Given the description of an element on the screen output the (x, y) to click on. 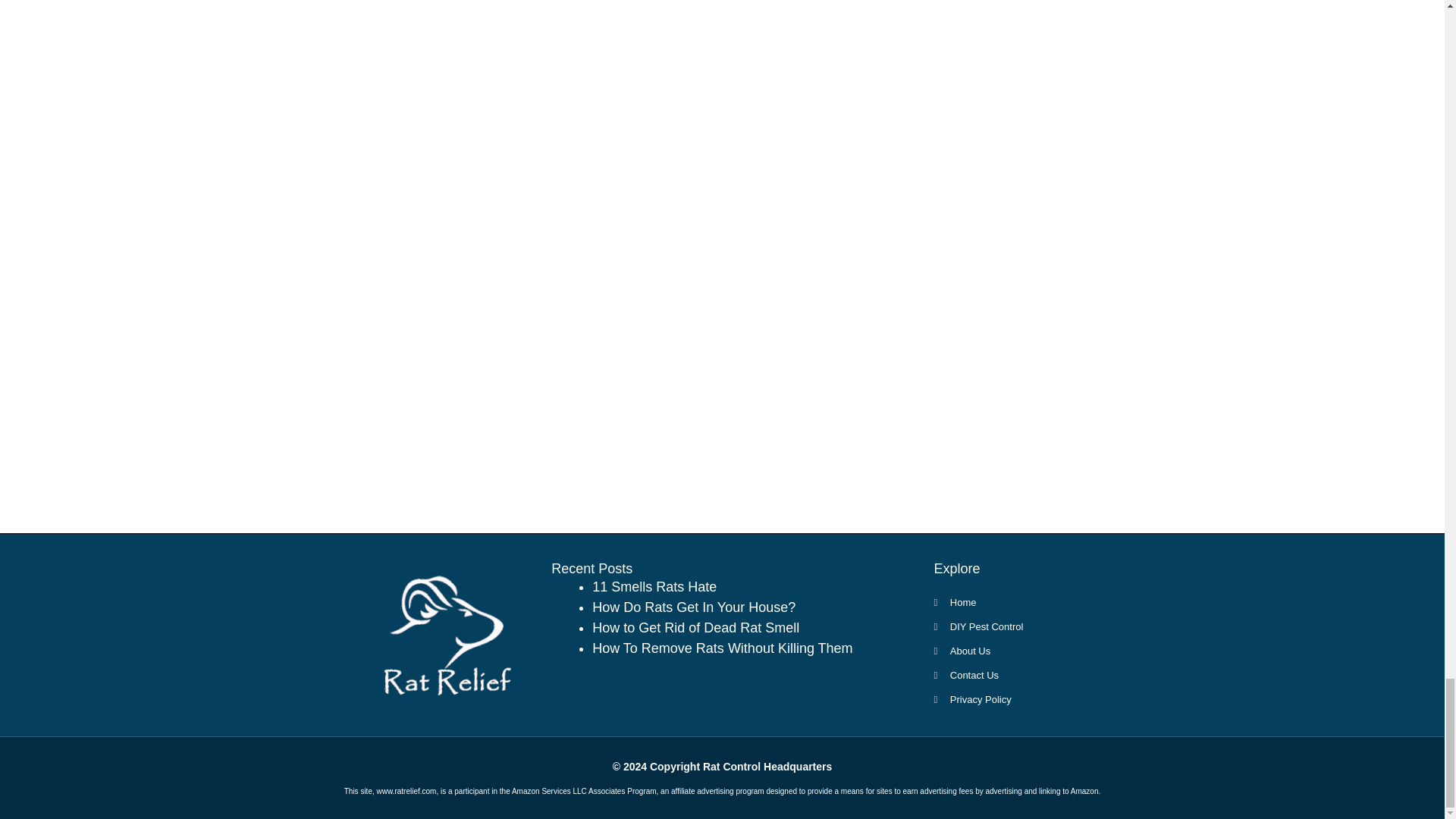
Privacy Policy (1009, 699)
Contact Us (1009, 675)
How Do Rats Get In Your House? (693, 607)
About Us (1009, 650)
How To Remove Rats Without Killing Them (721, 648)
11 Smells Rats Hate (654, 586)
How to Get Rid of Dead Rat Smell (695, 627)
DIY Pest Control (1009, 626)
Home (1009, 602)
